Given the description of an element on the screen output the (x, y) to click on. 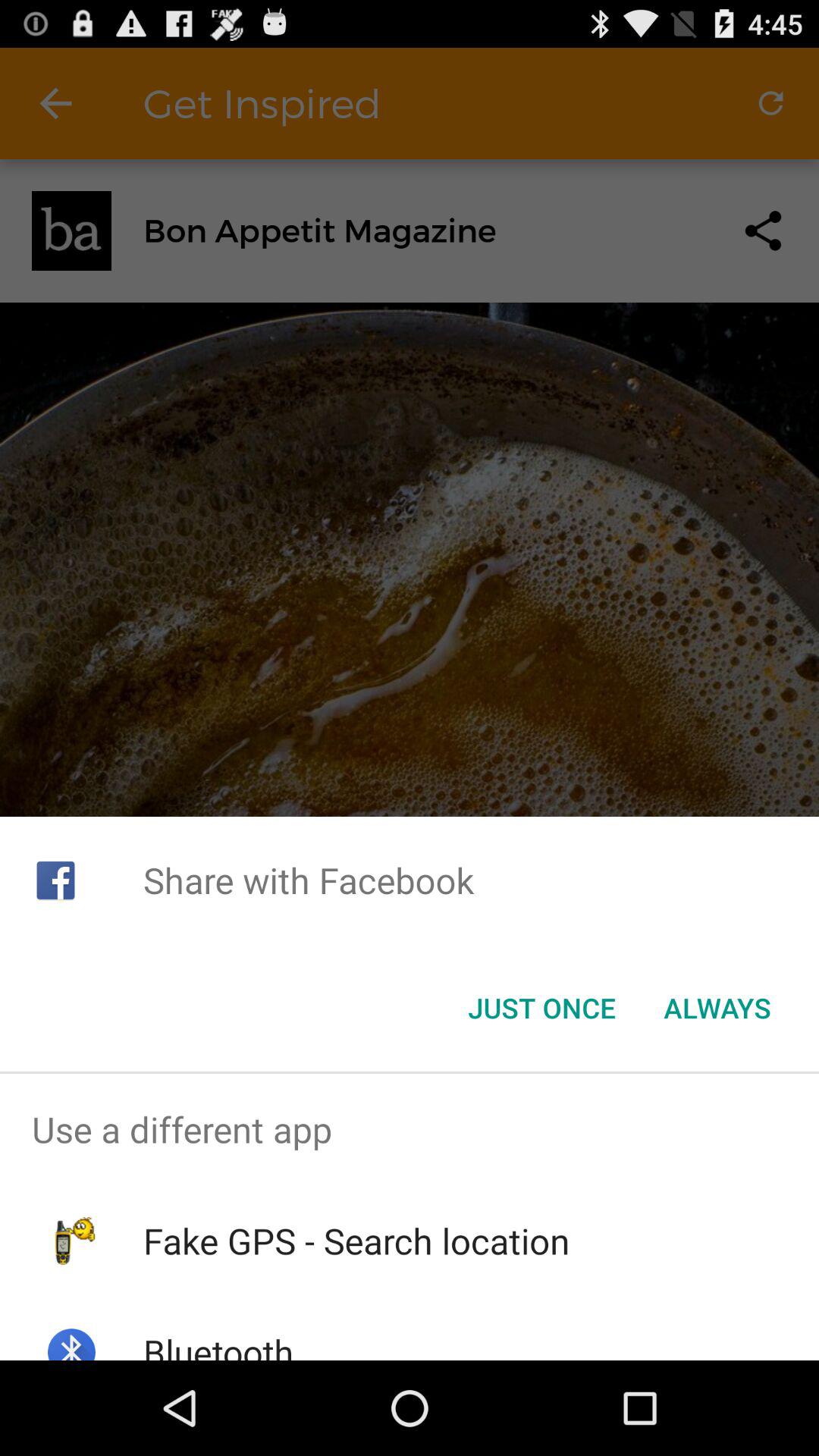
click icon below the use a different (356, 1240)
